Given the description of an element on the screen output the (x, y) to click on. 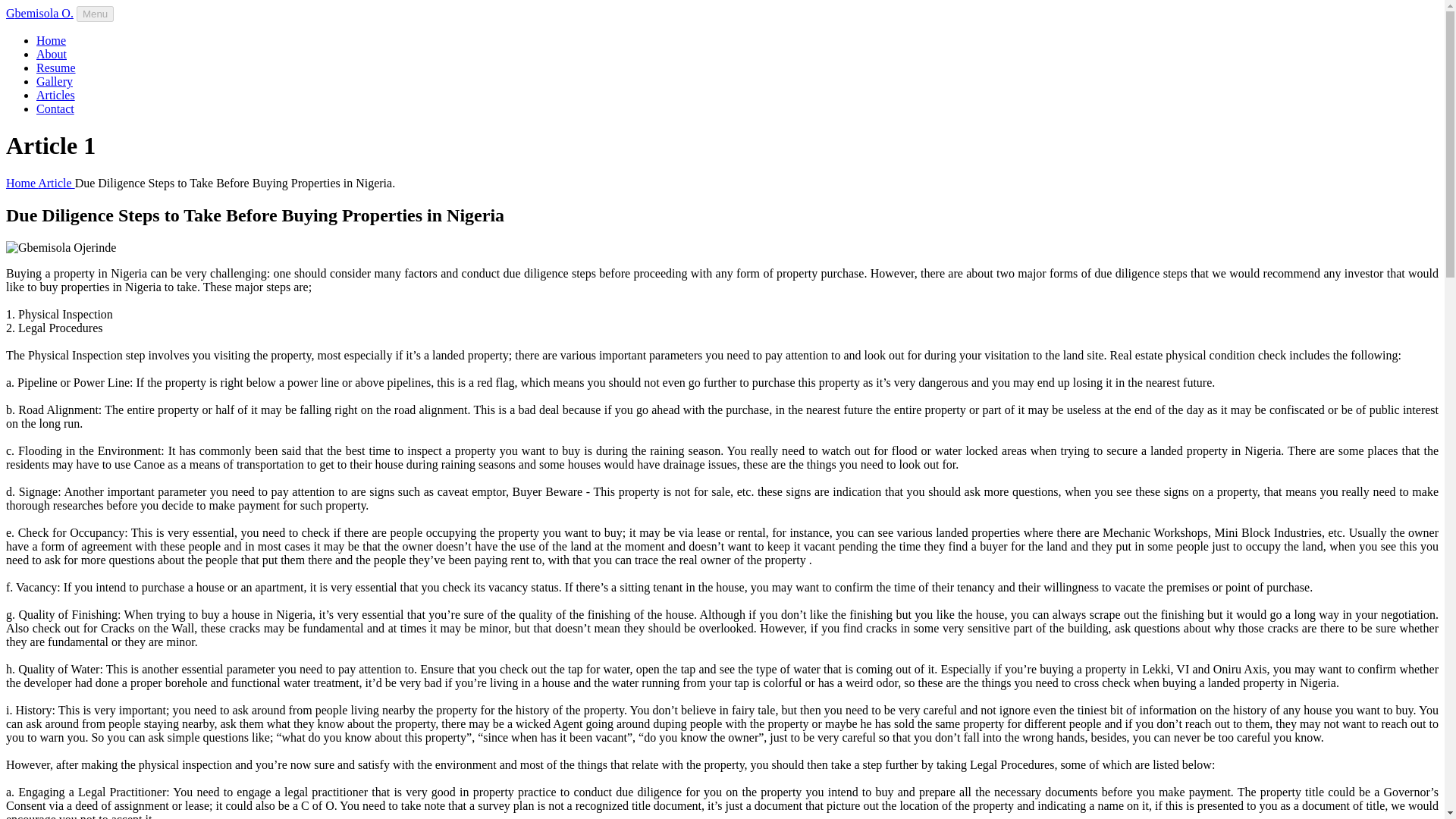
Gbemisola O. (39, 12)
Menu (95, 13)
Gallery (54, 81)
Article (55, 182)
Resume (55, 67)
About (51, 53)
Articles (55, 94)
Home (21, 182)
Contact (55, 108)
Home (50, 40)
